Given the description of an element on the screen output the (x, y) to click on. 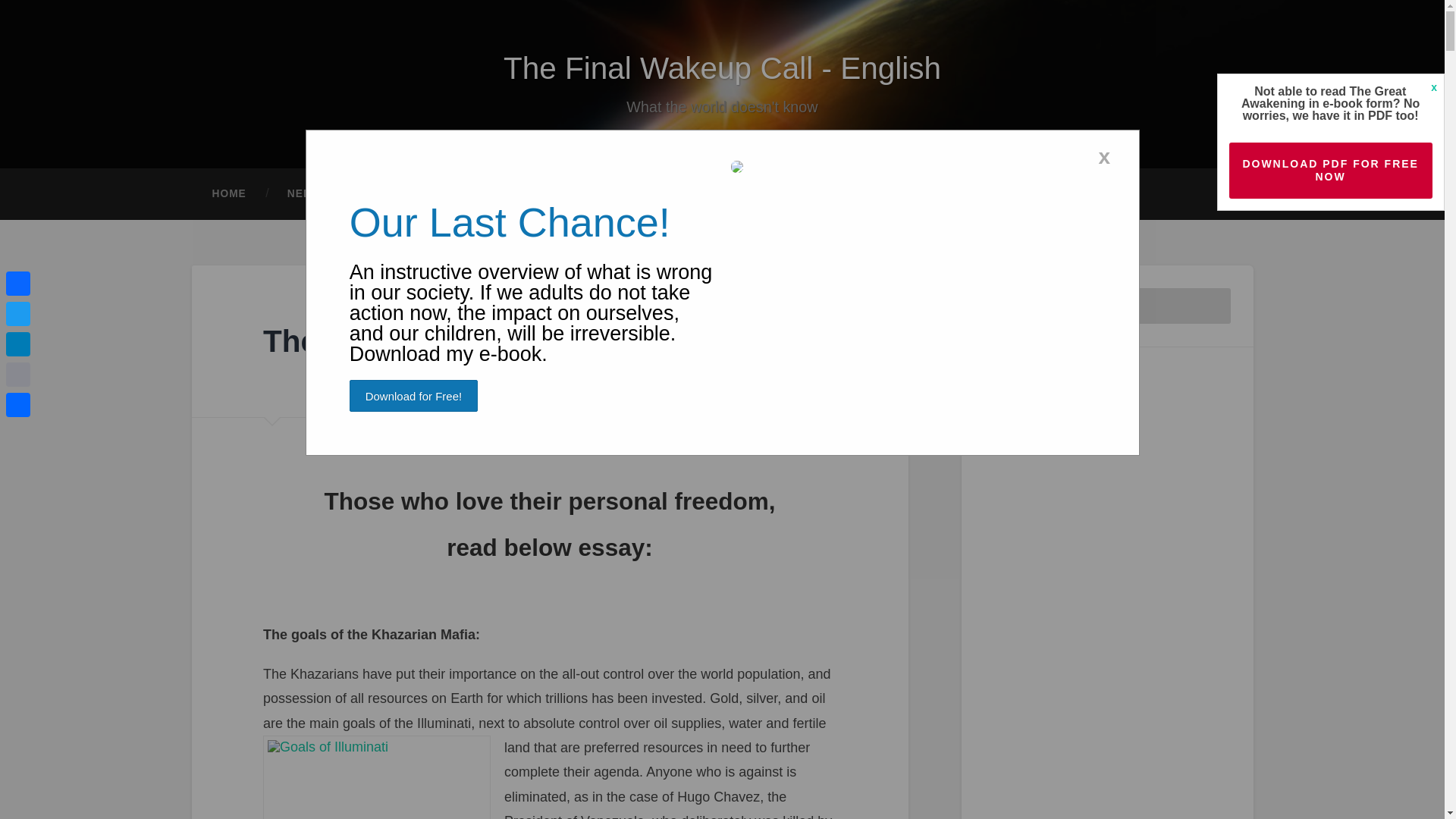
ITALIANO (729, 194)
HOME (228, 194)
The Khazarians own the world (483, 340)
The site in Dutch (327, 194)
Search (1209, 306)
The Final Wakeup Call - English (721, 67)
Search (1209, 306)
DEUTSCH (435, 194)
NEDERLANDS (327, 194)
The Khazarians own the world (483, 340)
